Given the description of an element on the screen output the (x, y) to click on. 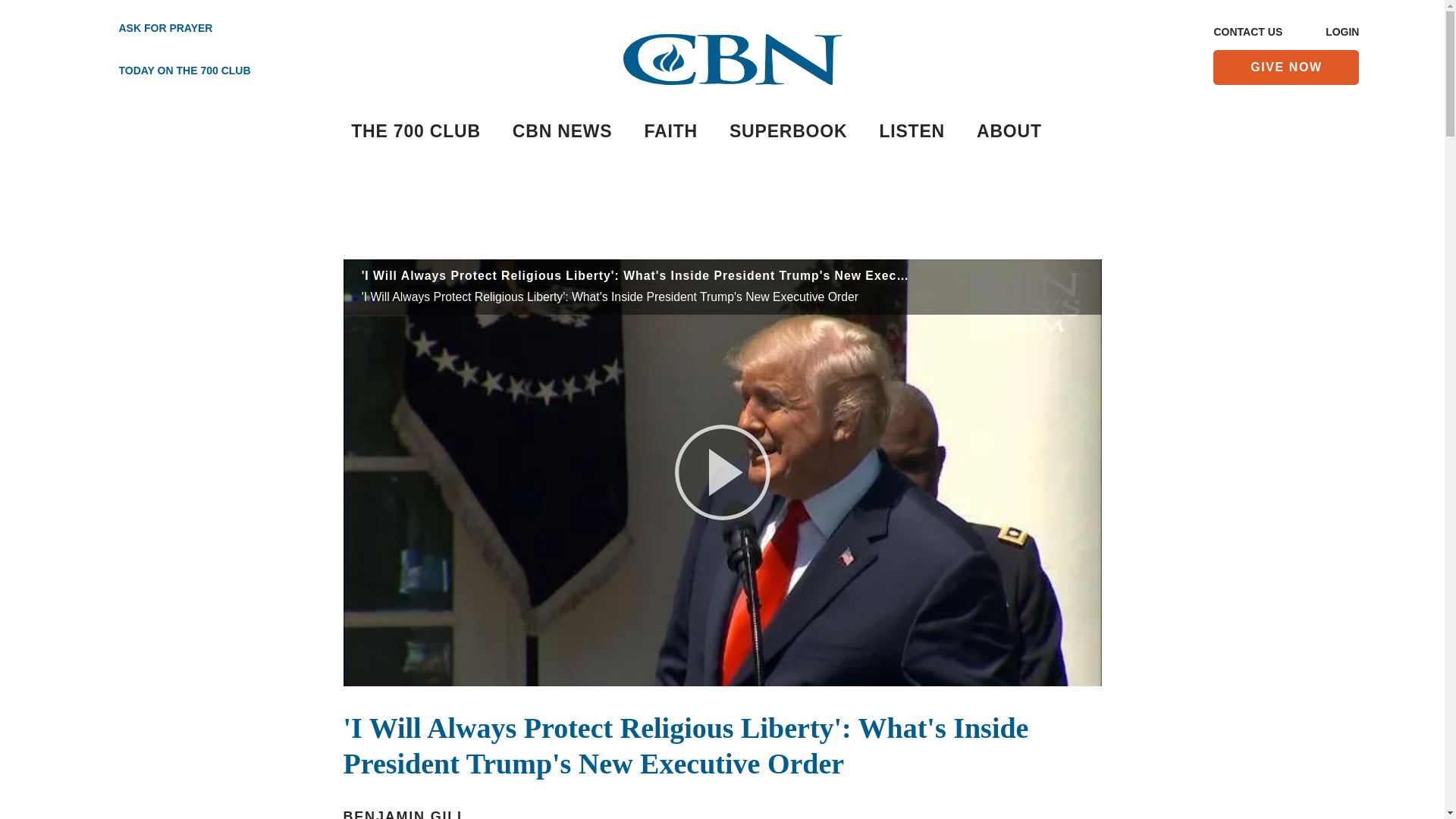
CONTACT US (1247, 32)
LOGIN (1341, 32)
CBN NEWS (562, 131)
ASK FOR PRAYER (167, 28)
THE 700 CLUB (415, 131)
GIVE NOW (1285, 67)
TODAY ON THE 700 CLUB (167, 71)
Play Video (722, 472)
3rd party ad content (721, 213)
